Given the description of an element on the screen output the (x, y) to click on. 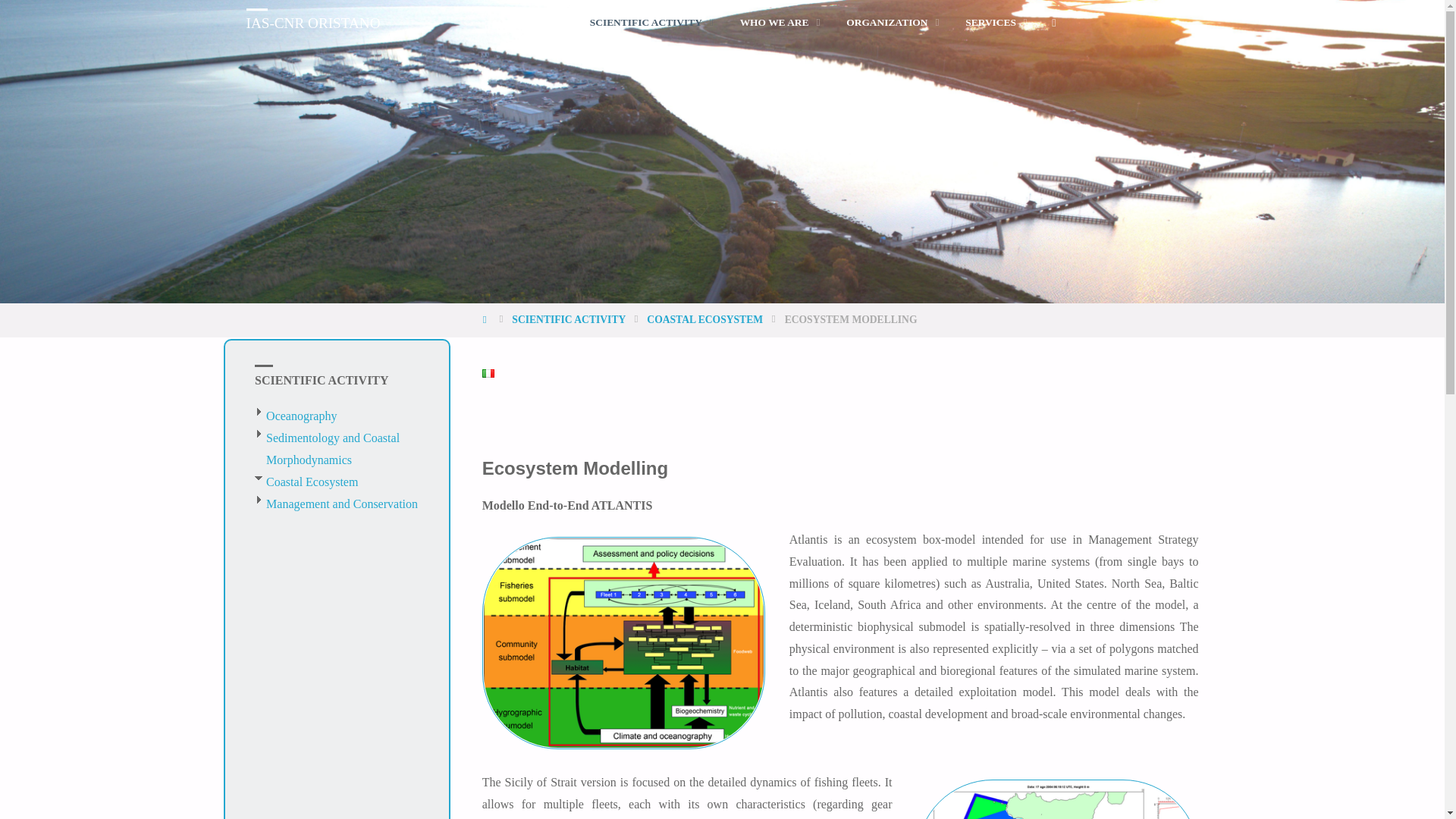
Italiano (488, 373)
Operative Unit of Oristano (313, 22)
Home (486, 319)
